Given the description of an element on the screen output the (x, y) to click on. 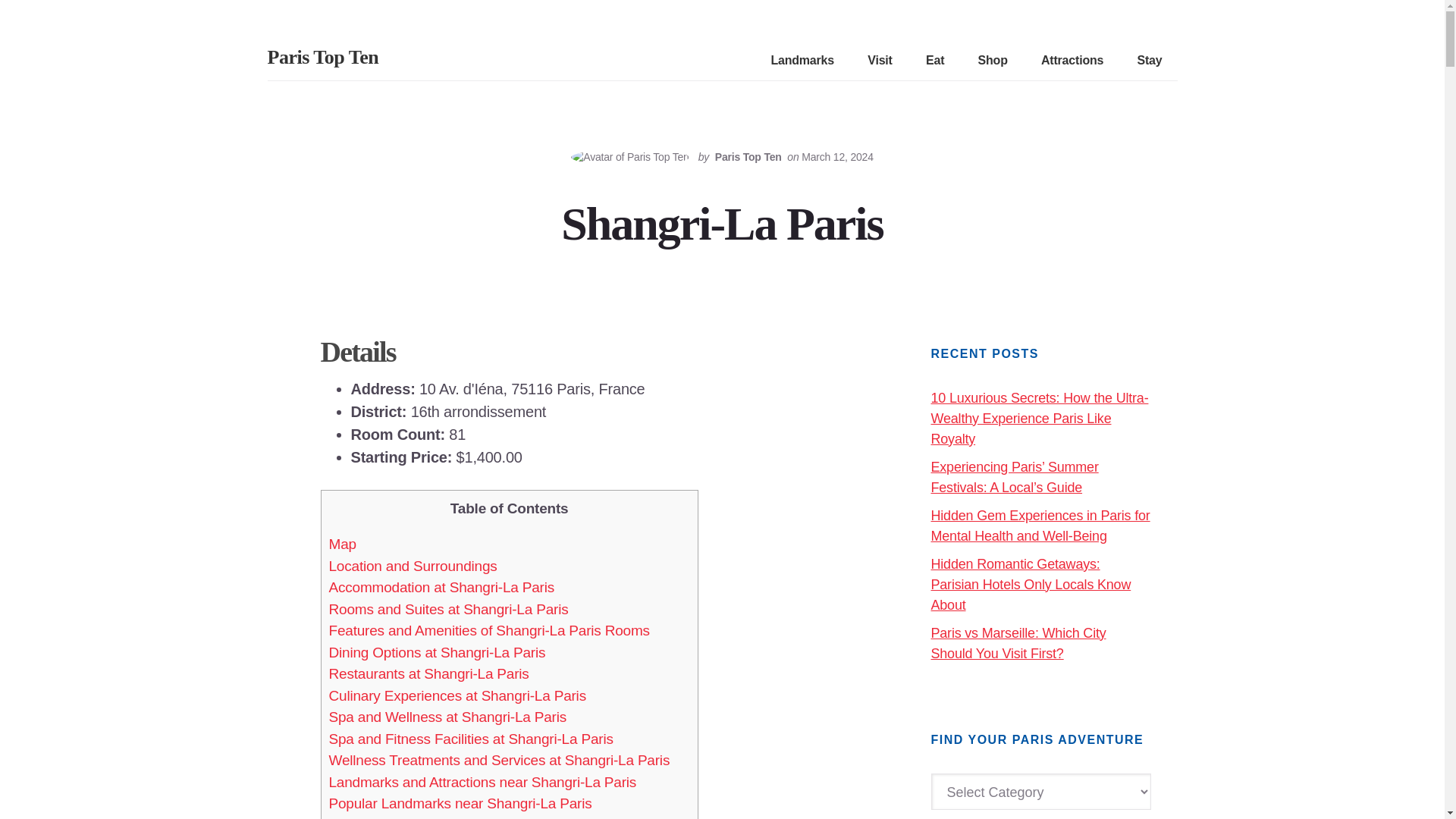
Paris Top Ten (322, 56)
Map (342, 544)
Paris Top Ten (747, 156)
Landmarks (802, 61)
Attractions (1072, 61)
Location and Surroundings (413, 565)
Shop (992, 61)
